Given the description of an element on the screen output the (x, y) to click on. 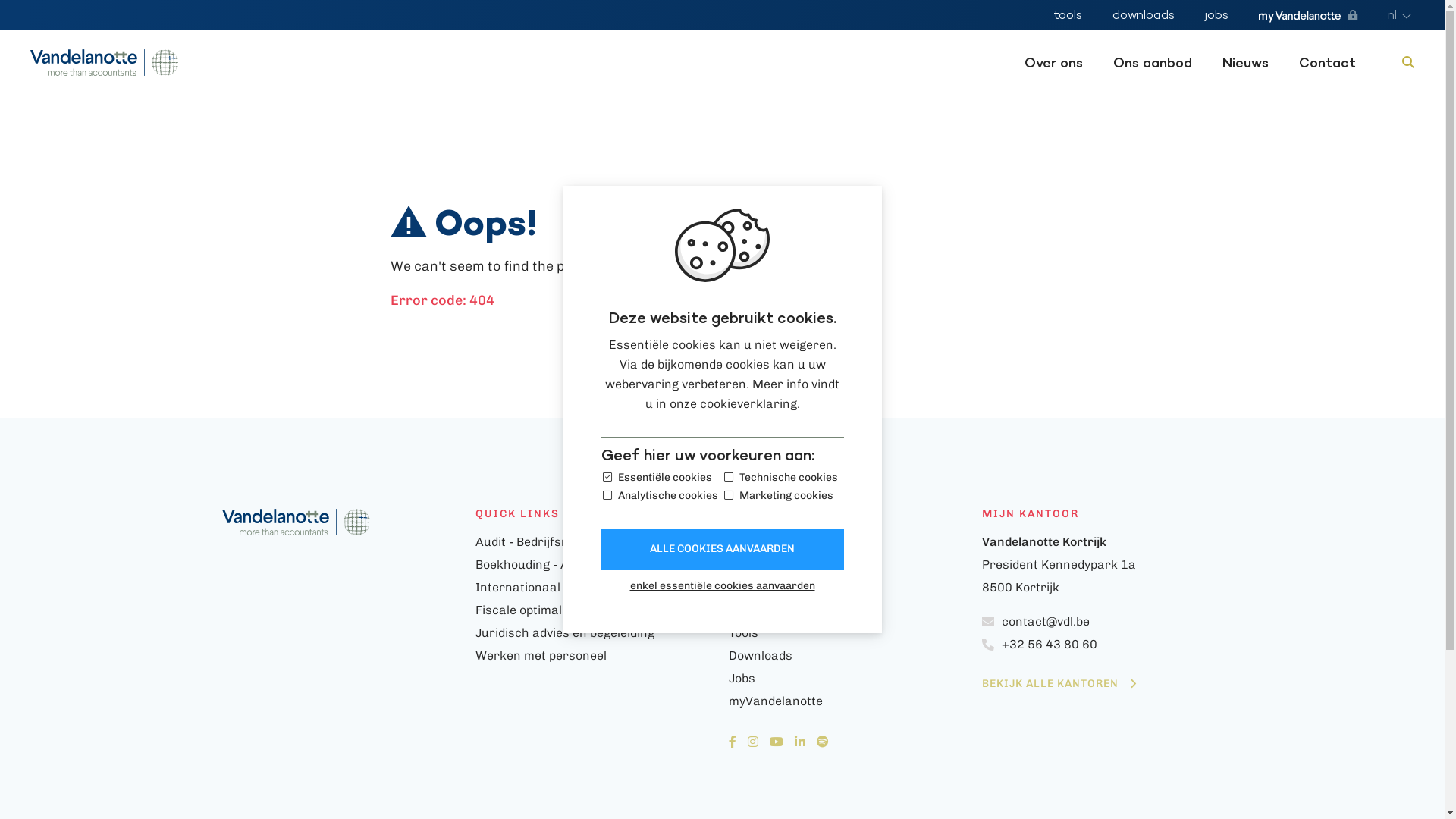
Jobs Element type: text (848, 678)
Nieuws Element type: text (1245, 62)
downloads Element type: text (1143, 14)
Over ons Element type: text (848, 541)
Over ons Element type: text (1053, 62)
tools Element type: text (1067, 14)
contact@vdl.be Element type: text (1101, 621)
Ons aanbod Element type: text (848, 564)
Fiscale optimalisaties Element type: text (536, 609)
myVandelanotte Element type: hover (1307, 15)
Contact Element type: text (1327, 62)
Internationaal ondernemen Element type: text (555, 587)
Contact Element type: text (848, 610)
jobs Element type: text (1216, 14)
Nieuws Element type: text (848, 587)
Downloads Element type: text (848, 655)
ALLE COOKIES AANVAARDEN Element type: text (721, 548)
BEKIJK ALLE KANTOREN Element type: text (1058, 683)
Werken met personeel Element type: text (539, 655)
+32 56 43 80 60 Element type: text (1101, 644)
Tools Element type: text (848, 632)
Juridisch advies en begeleiding Element type: text (563, 632)
cookieverklaring Element type: text (747, 403)
Ons aanbod Element type: text (1152, 62)
Audit - Bedrijfsrevisoraat Element type: text (547, 541)
Boekhouding - Accountancy Element type: text (555, 564)
myVandelanotte Element type: text (848, 701)
